Given the description of an element on the screen output the (x, y) to click on. 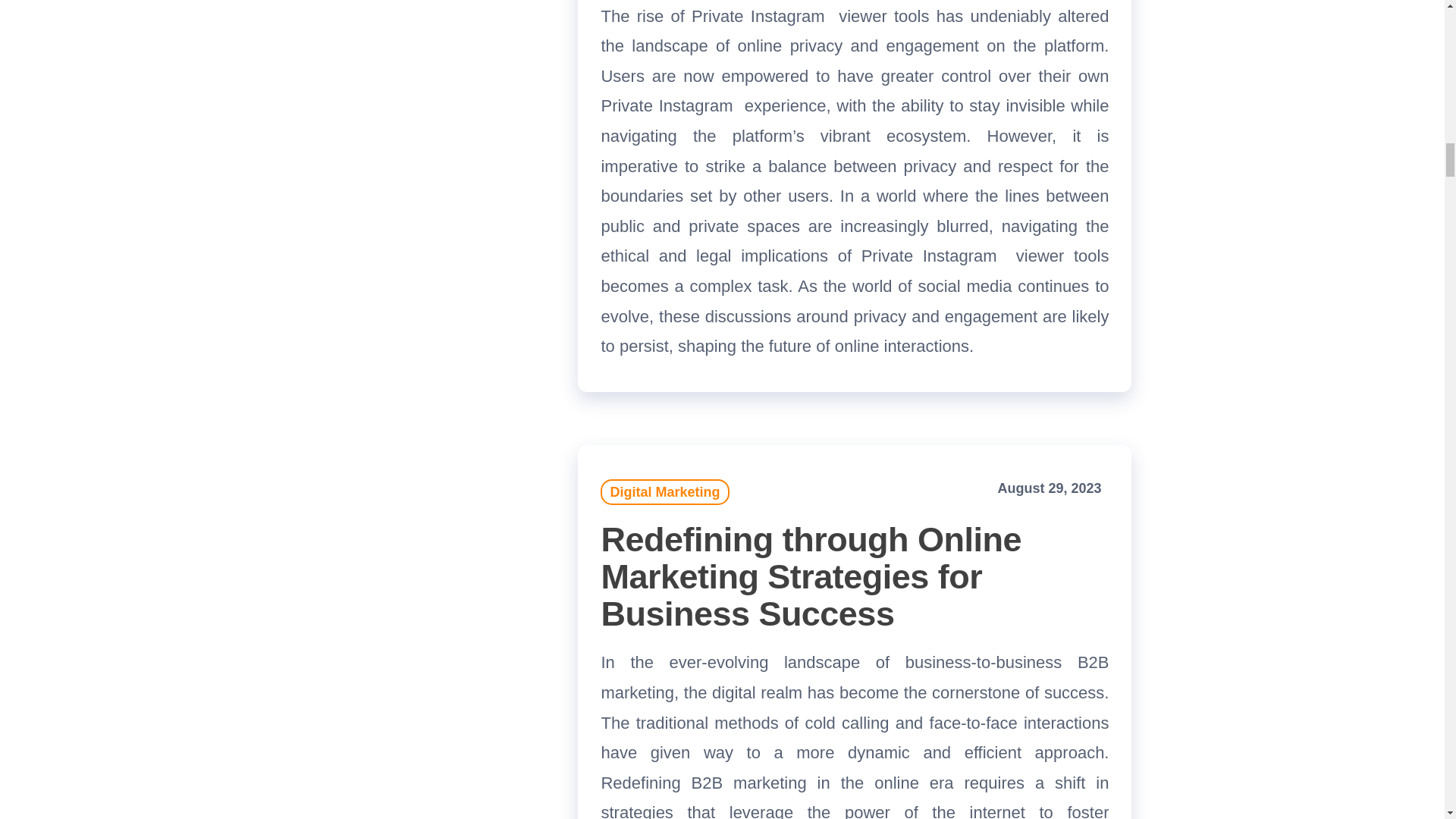
Digital Marketing (664, 492)
